Given the description of an element on the screen output the (x, y) to click on. 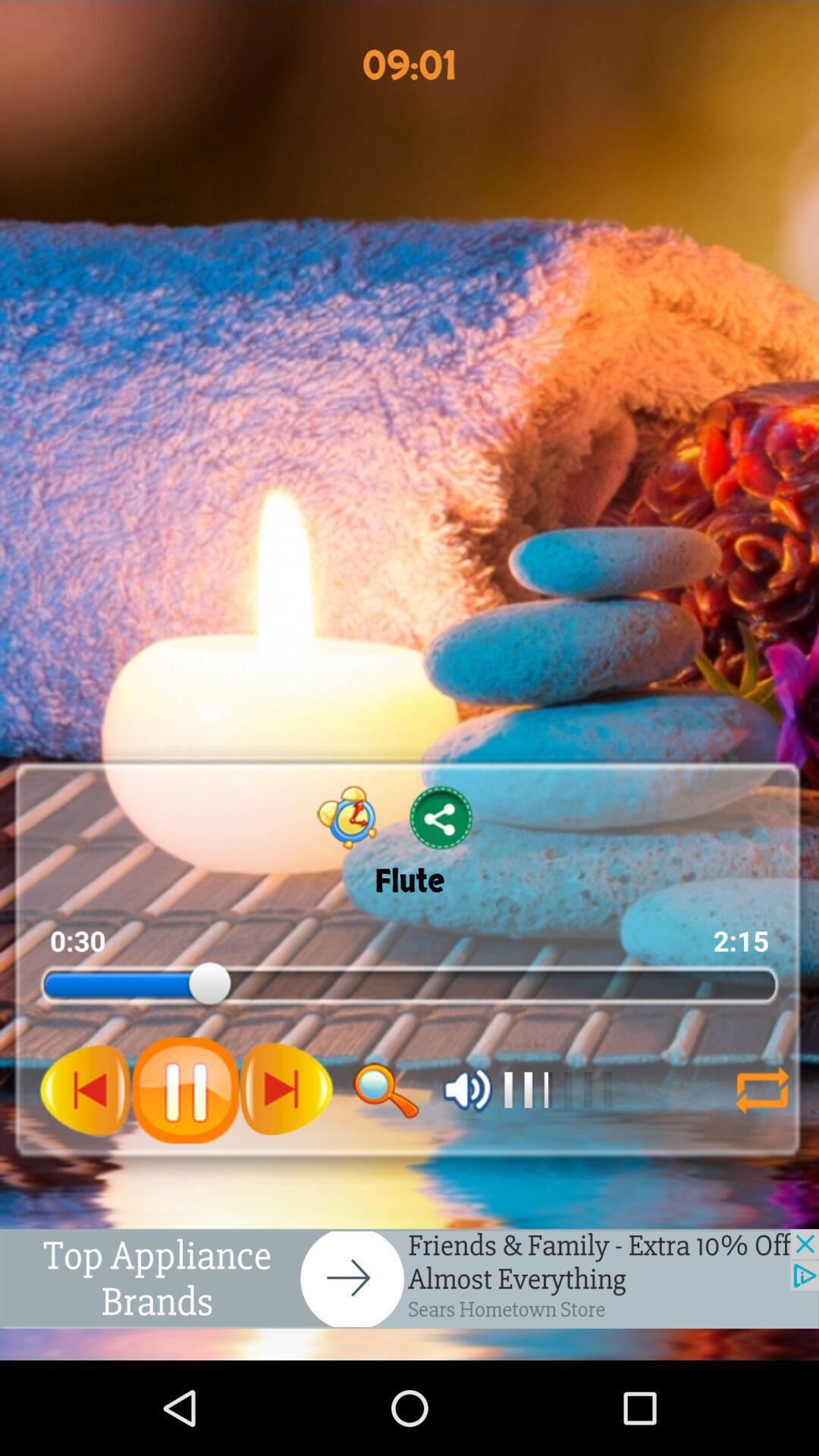
rewind (85, 1090)
